Given the description of an element on the screen output the (x, y) to click on. 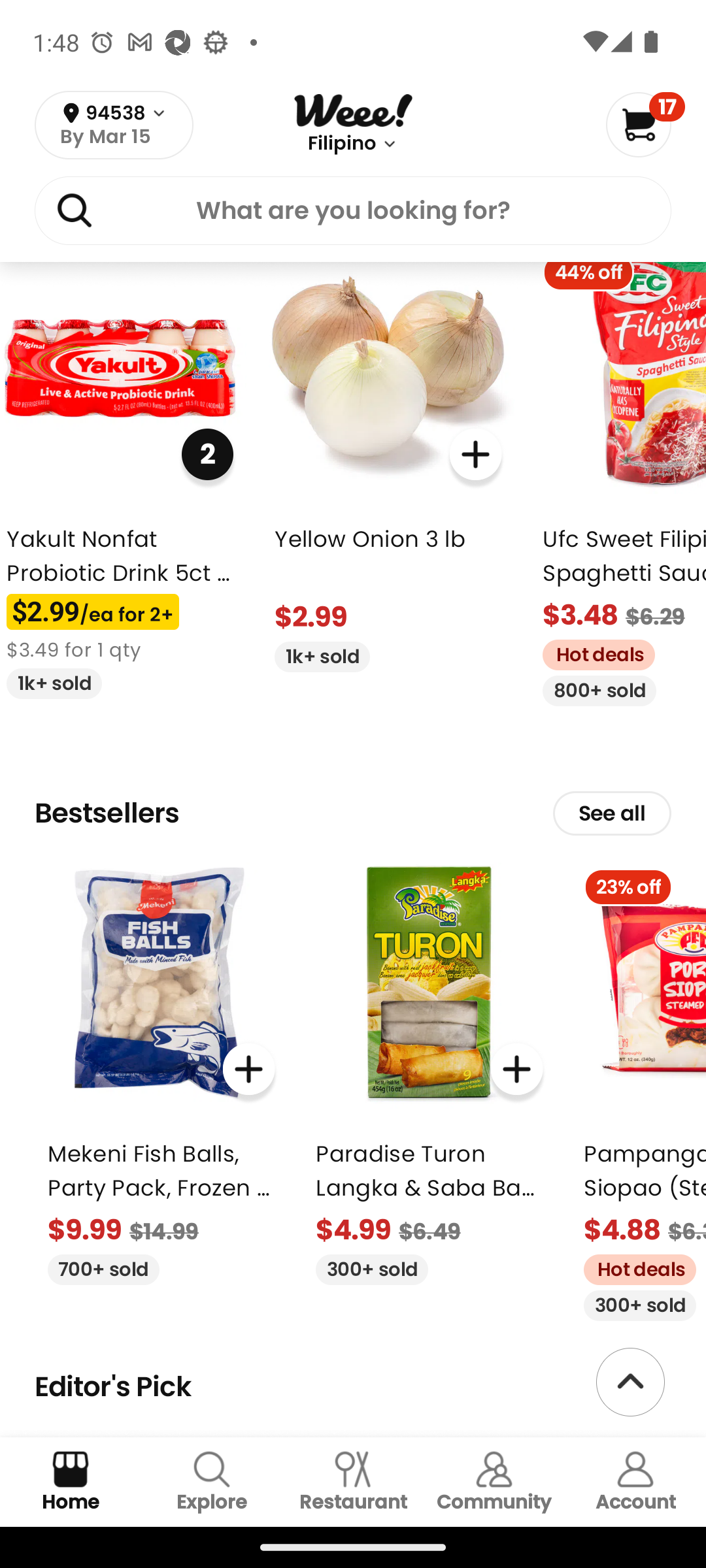
94538 By Mar 15 (113, 124)
17 (644, 124)
Filipino (341, 143)
What are you looking for? (353, 213)
What are you looking for? (352, 209)
Yellow Onion 3 lb $2.99 1k+ sold (387, 455)
2 (207, 453)
Hot deals (591, 653)
Hot deals (632, 1267)
Home (70, 1482)
Explore (211, 1482)
Restaurant (352, 1482)
Community (493, 1482)
Account (635, 1482)
